Given the description of an element on the screen output the (x, y) to click on. 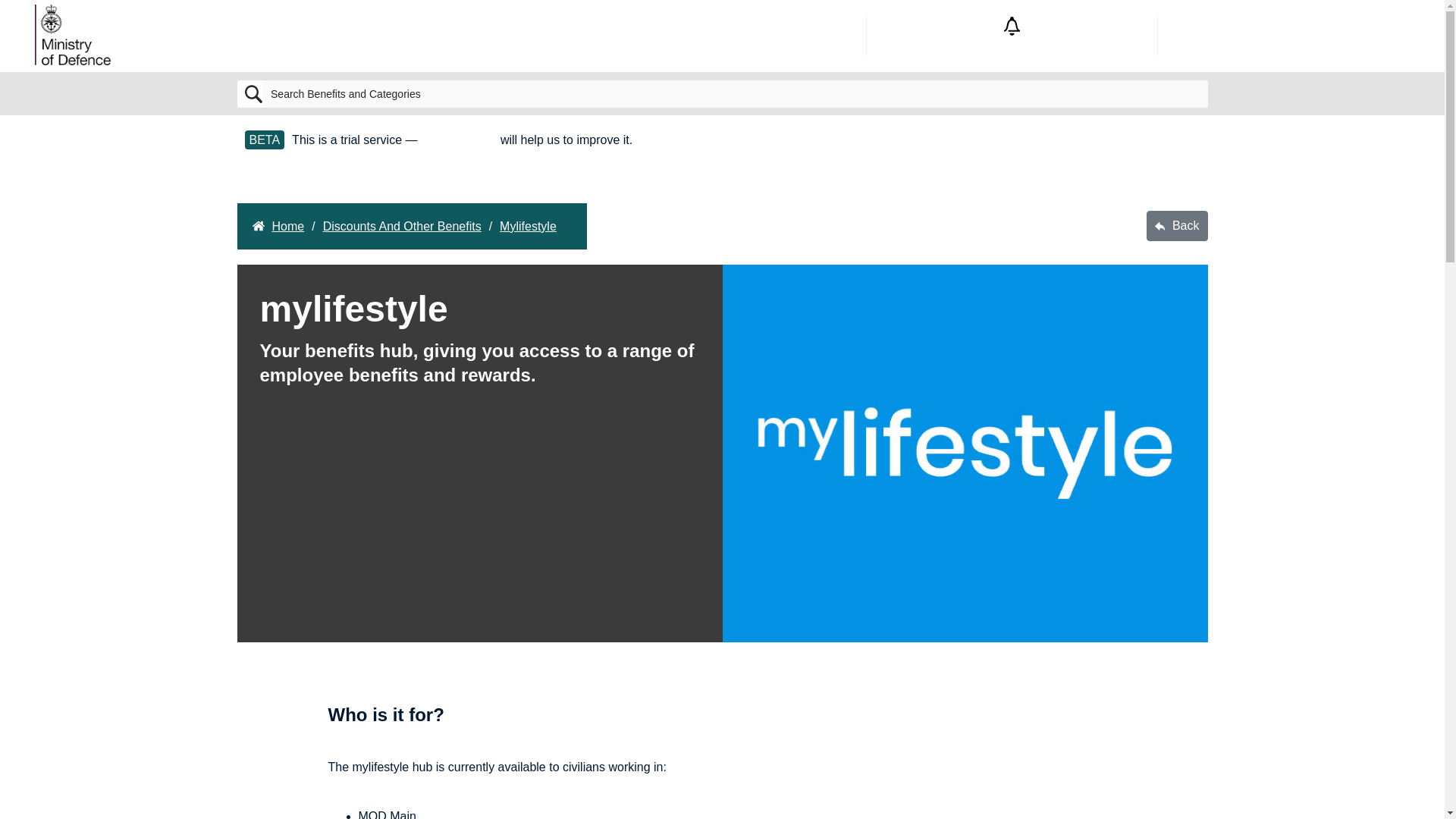
Discounts And Other Benefits (402, 226)
Mylifestyle (527, 226)
Home (277, 226)
your feedback (458, 139)
View updates (1011, 36)
View all (1302, 36)
Back (1177, 225)
